Given the description of an element on the screen output the (x, y) to click on. 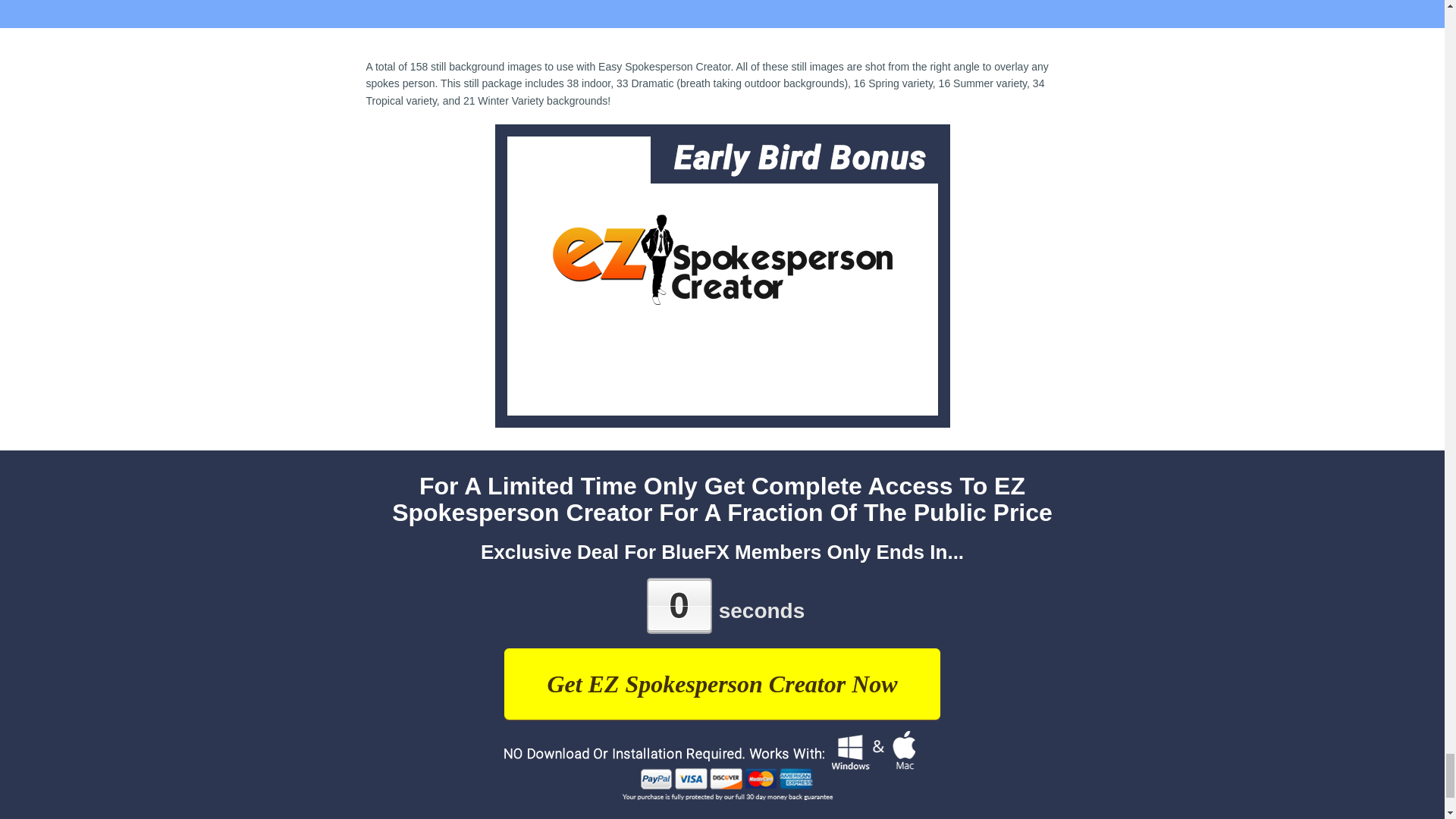
Get EZ Spokesperson Creator Now (721, 683)
